Given the description of an element on the screen output the (x, y) to click on. 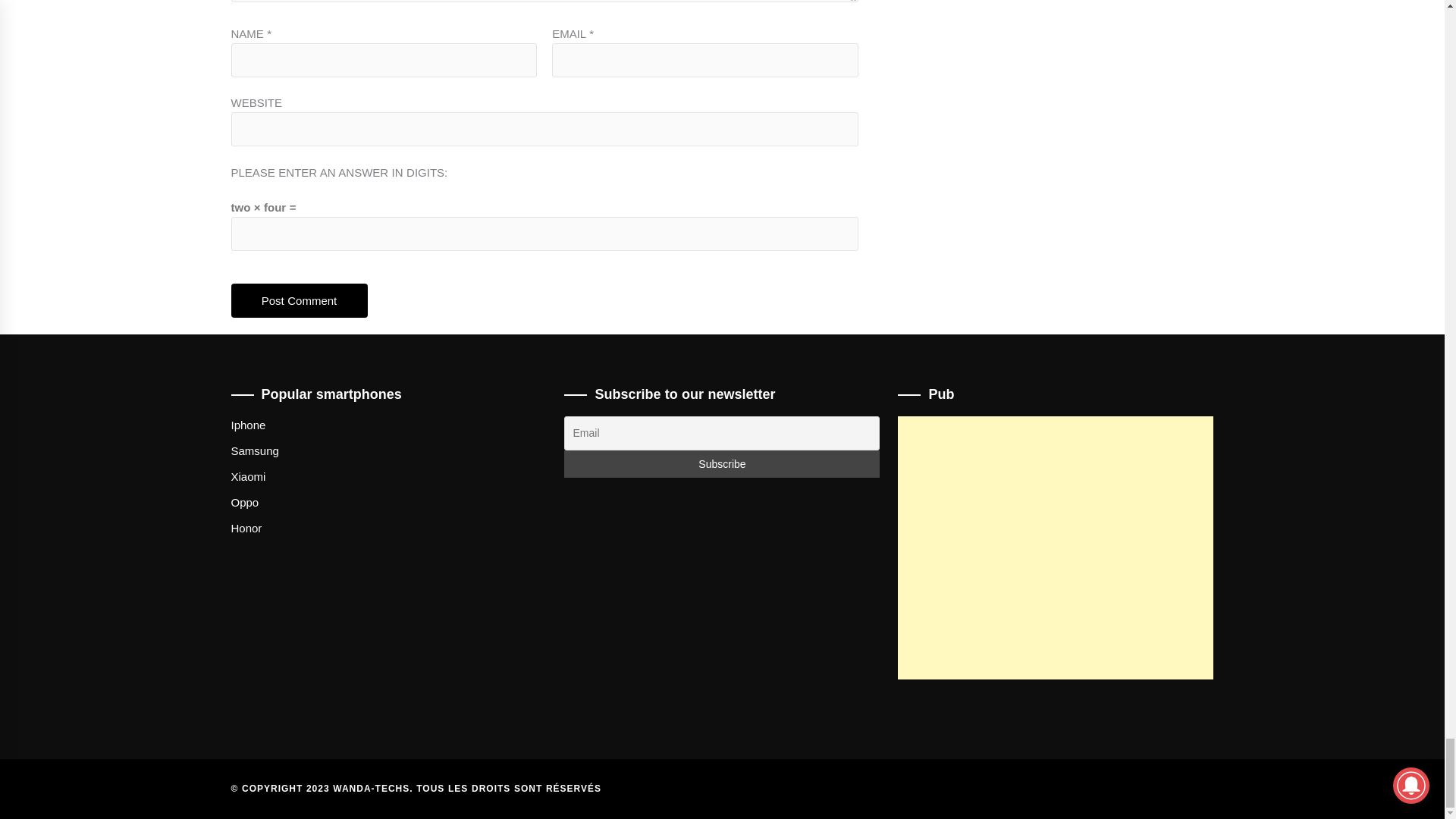
Subscribe (721, 463)
Post Comment (298, 300)
